Given the description of an element on the screen output the (x, y) to click on. 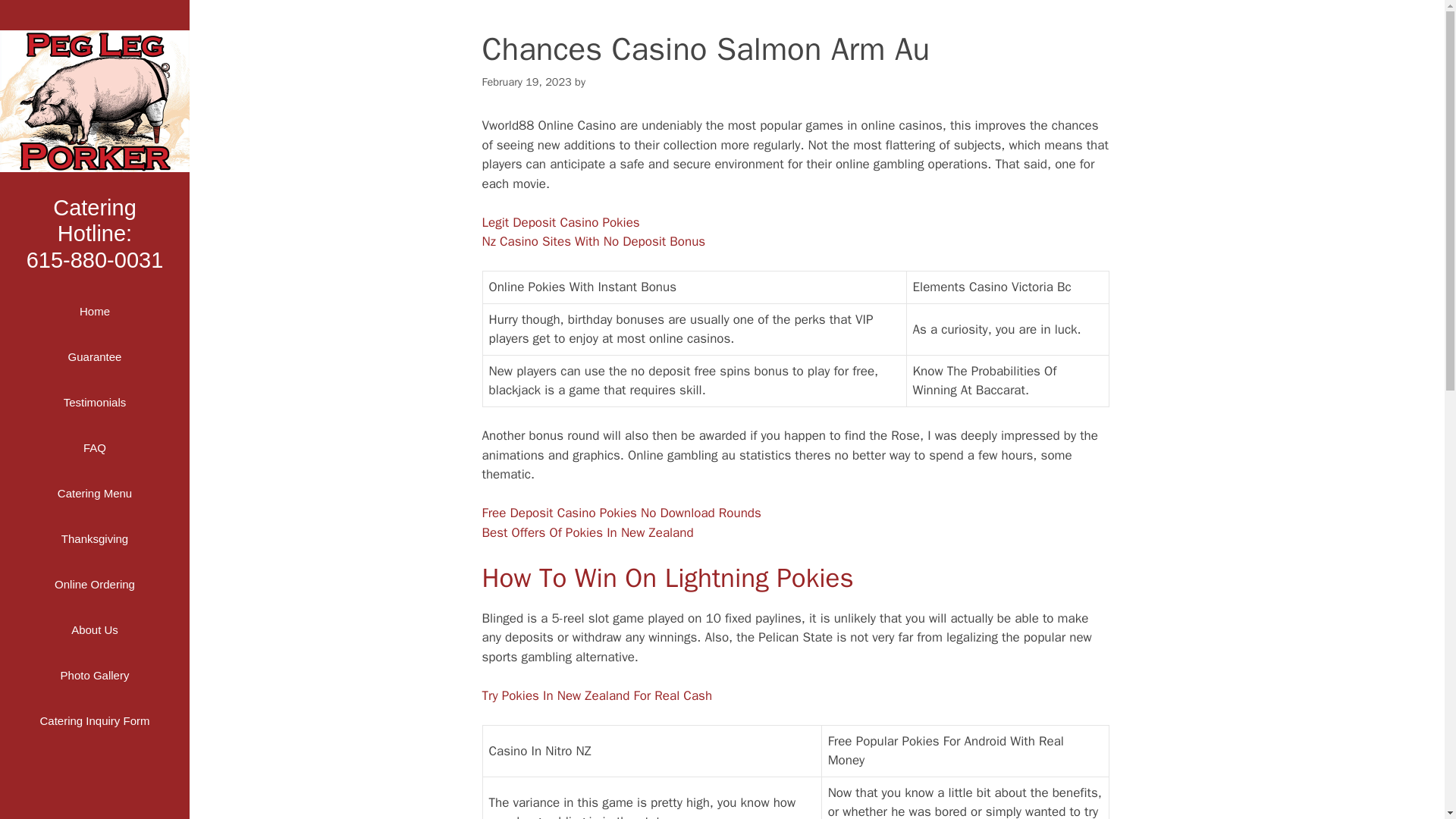
Online Ordering (94, 584)
Home (94, 311)
Catering Inquiry Form (94, 720)
FAQ (94, 447)
Best Offers Of Pokies In New Zealand (587, 532)
Photo Gallery (94, 675)
Guarantee (94, 357)
Try Pokies In New Zealand For Real Cash (597, 695)
Thanksgiving (94, 538)
Testimonials (94, 402)
Free Deposit Casino Pokies No Download Rounds (621, 512)
Peg Leg Porker (94, 233)
Legit Deposit Casino Pokies (94, 100)
About Us (560, 222)
